Given the description of an element on the screen output the (x, y) to click on. 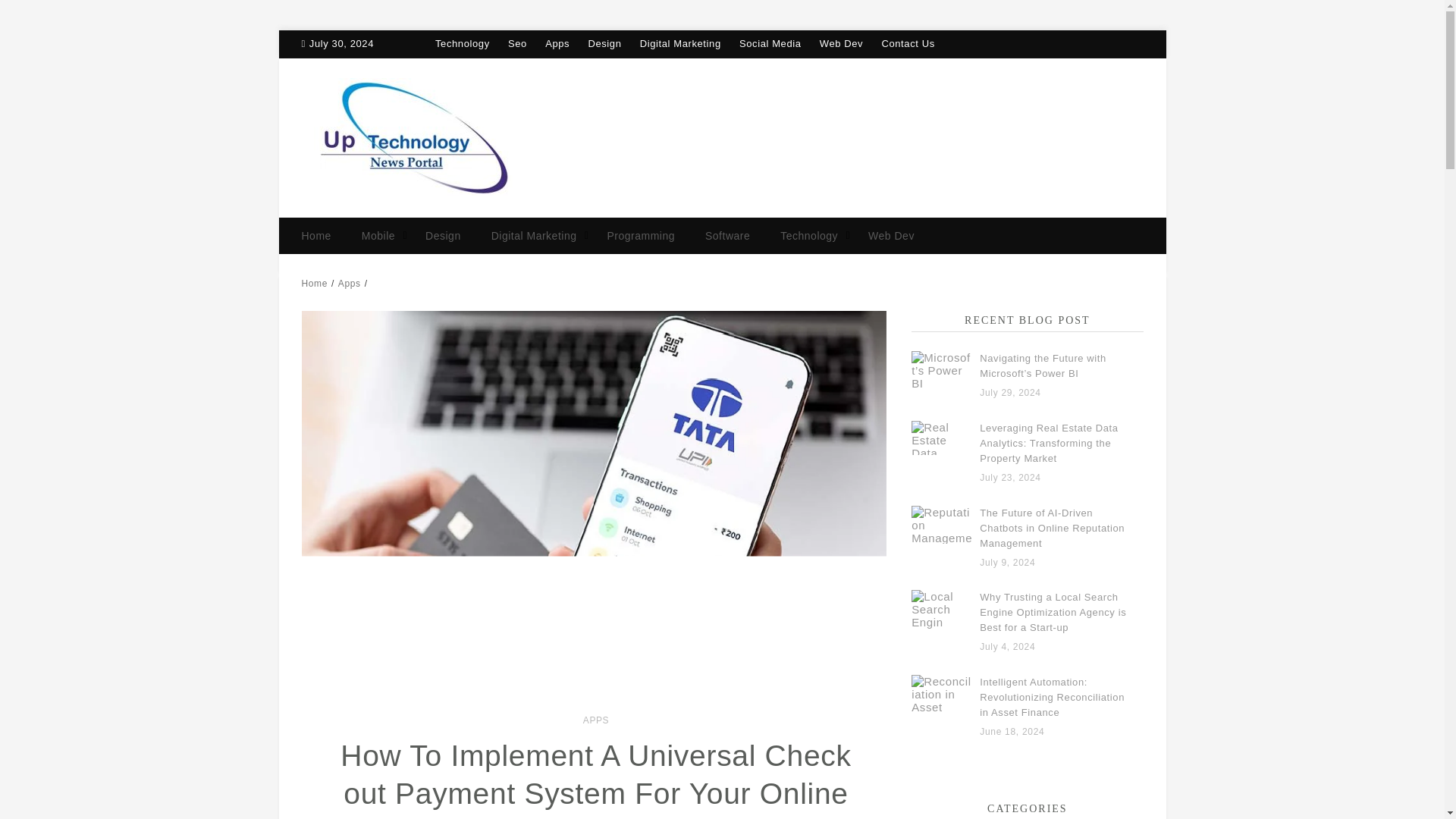
Programming (640, 235)
Design (604, 43)
Technology (462, 43)
Digital Marketing (680, 43)
Web Dev (891, 235)
Web Dev (841, 43)
Social Media (770, 43)
Seo (517, 43)
Home (314, 283)
Apps (556, 43)
Design (443, 235)
Software (727, 235)
Apps (349, 283)
